Given the description of an element on the screen output the (x, y) to click on. 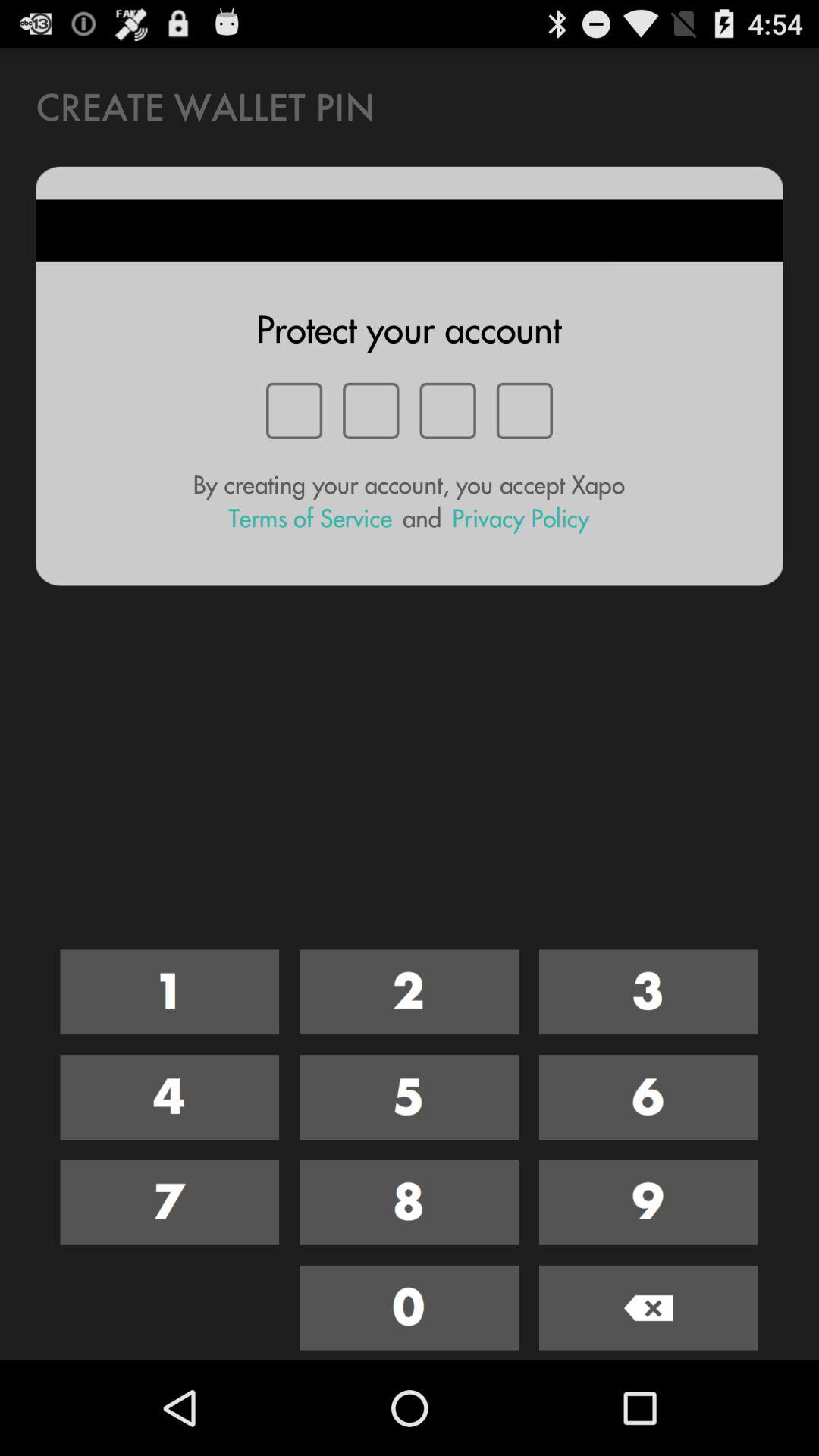
zero (408, 1307)
